Given the description of an element on the screen output the (x, y) to click on. 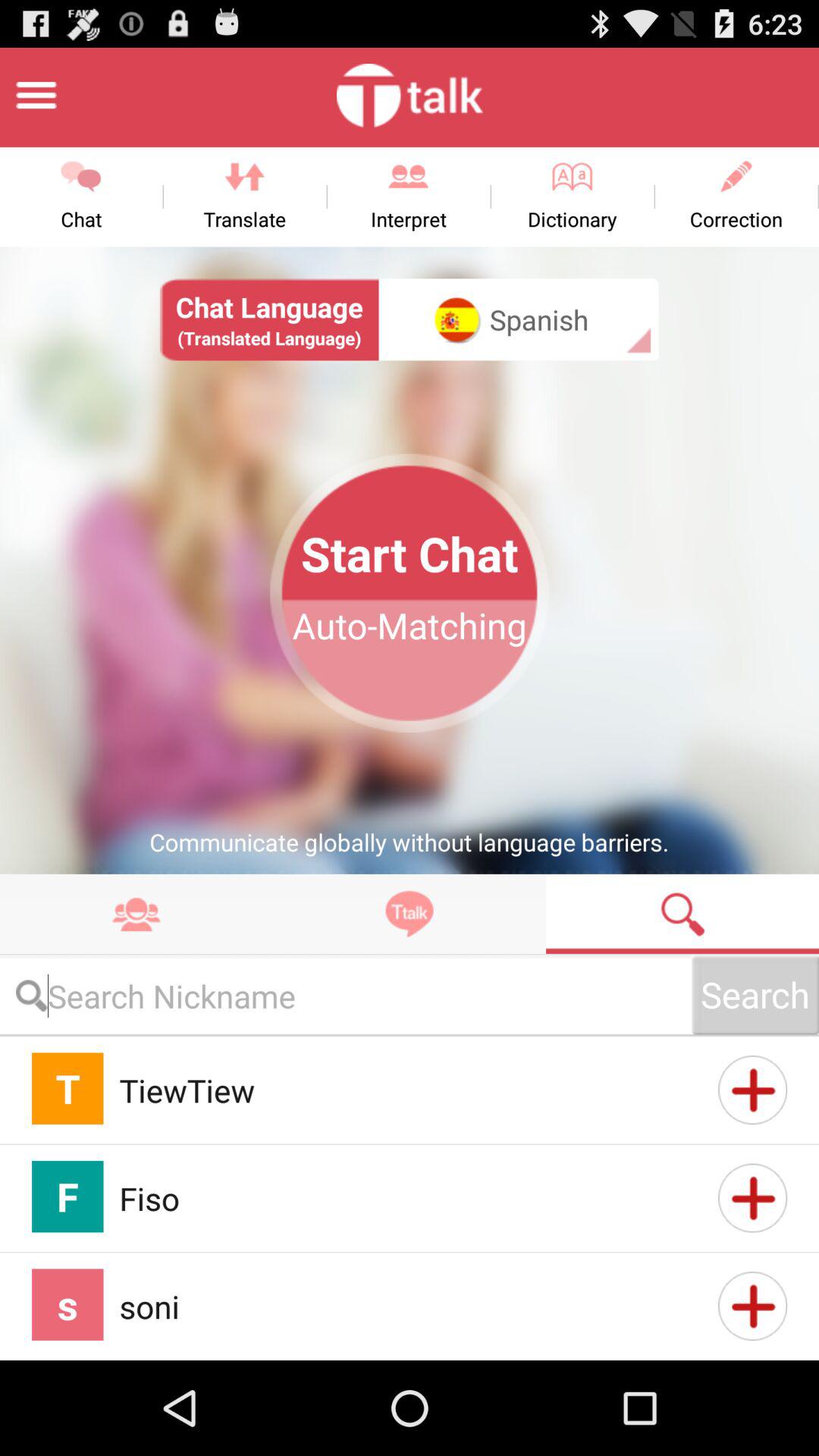
add to contacts (752, 1197)
